Given the description of an element on the screen output the (x, y) to click on. 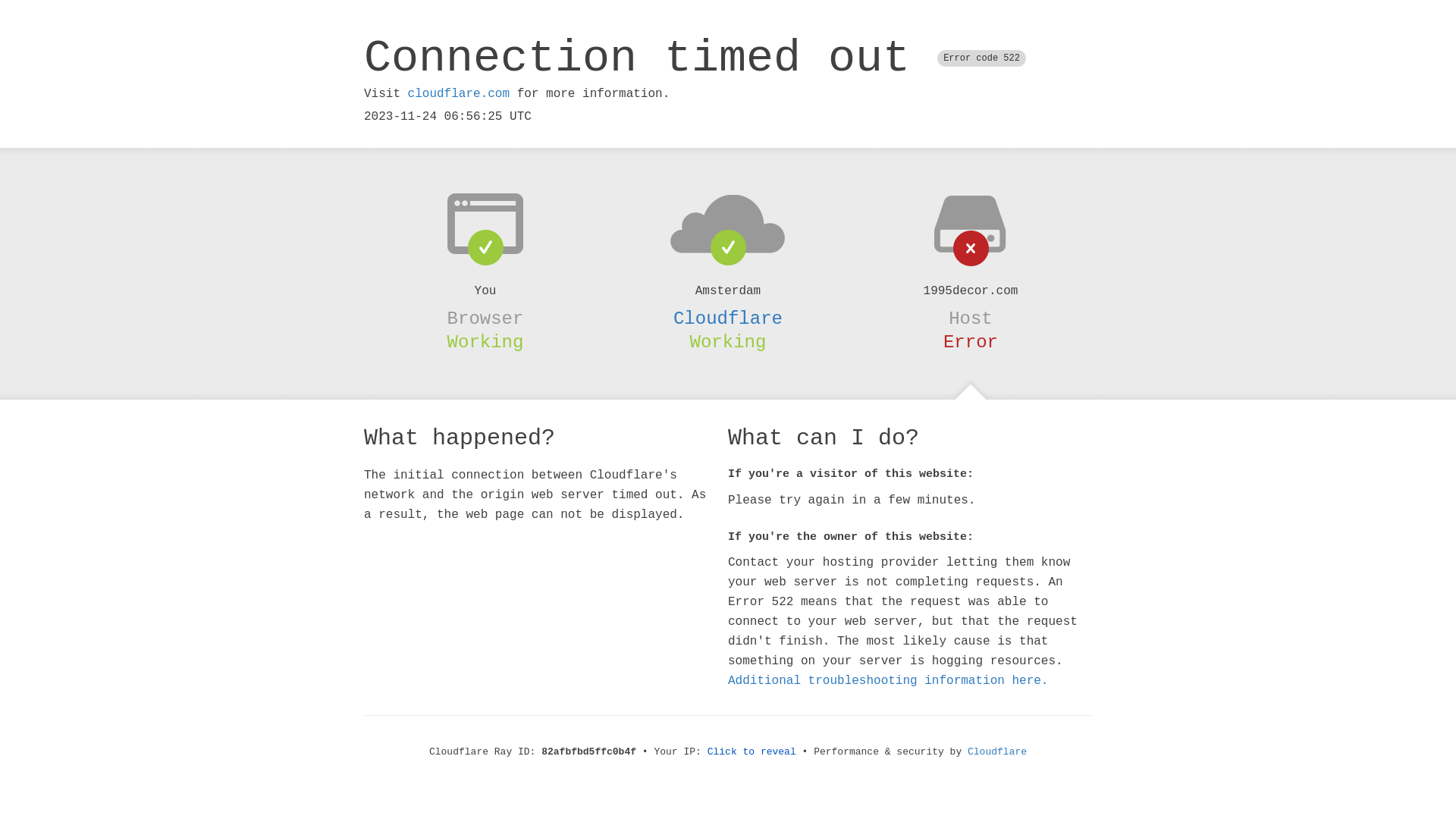
Cloudflare Element type: text (727, 318)
Click to reveal Element type: text (751, 751)
Cloudflare Element type: text (996, 751)
Additional troubleshooting information here. Element type: text (888, 680)
cloudflare.com Element type: text (458, 93)
